Given the description of an element on the screen output the (x, y) to click on. 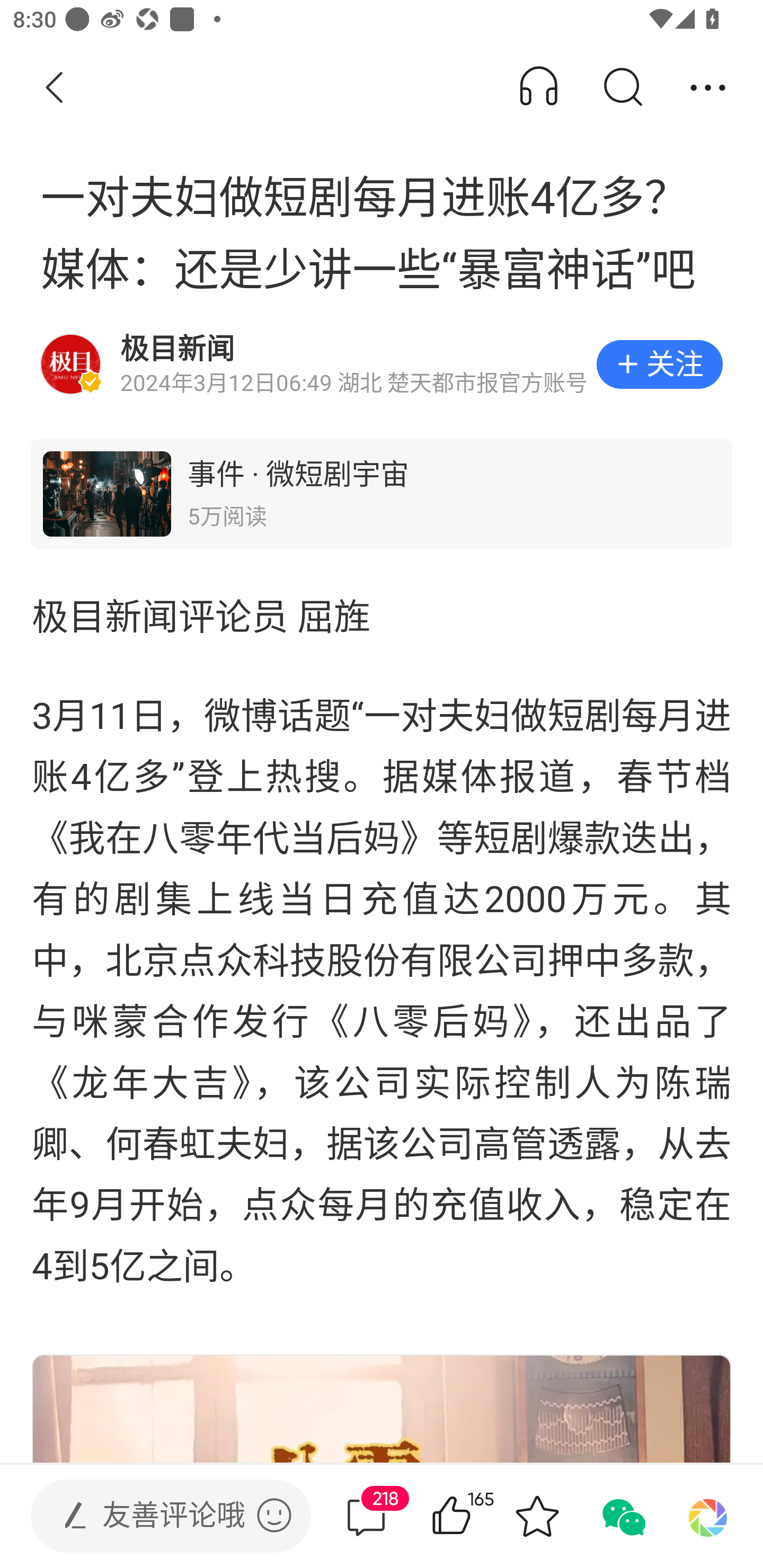
搜索  (622, 87)
分享  (707, 87)
 返回 (54, 87)
极目新闻 2024年3月12日06:49 湖北 楚天都市报官方账号  关注 (381, 364)
 关注 (659, 364)
事件 ·  微短剧宇宙 5万阅读 (381, 493)
发表评论  友善评论哦 发表评论  (155, 1516)
218评论  218 评论 (365, 1516)
165赞 (476, 1516)
收藏  (536, 1516)
分享到微信  (622, 1516)
分享到朋友圈 (707, 1516)
 (274, 1515)
